Given the description of an element on the screen output the (x, y) to click on. 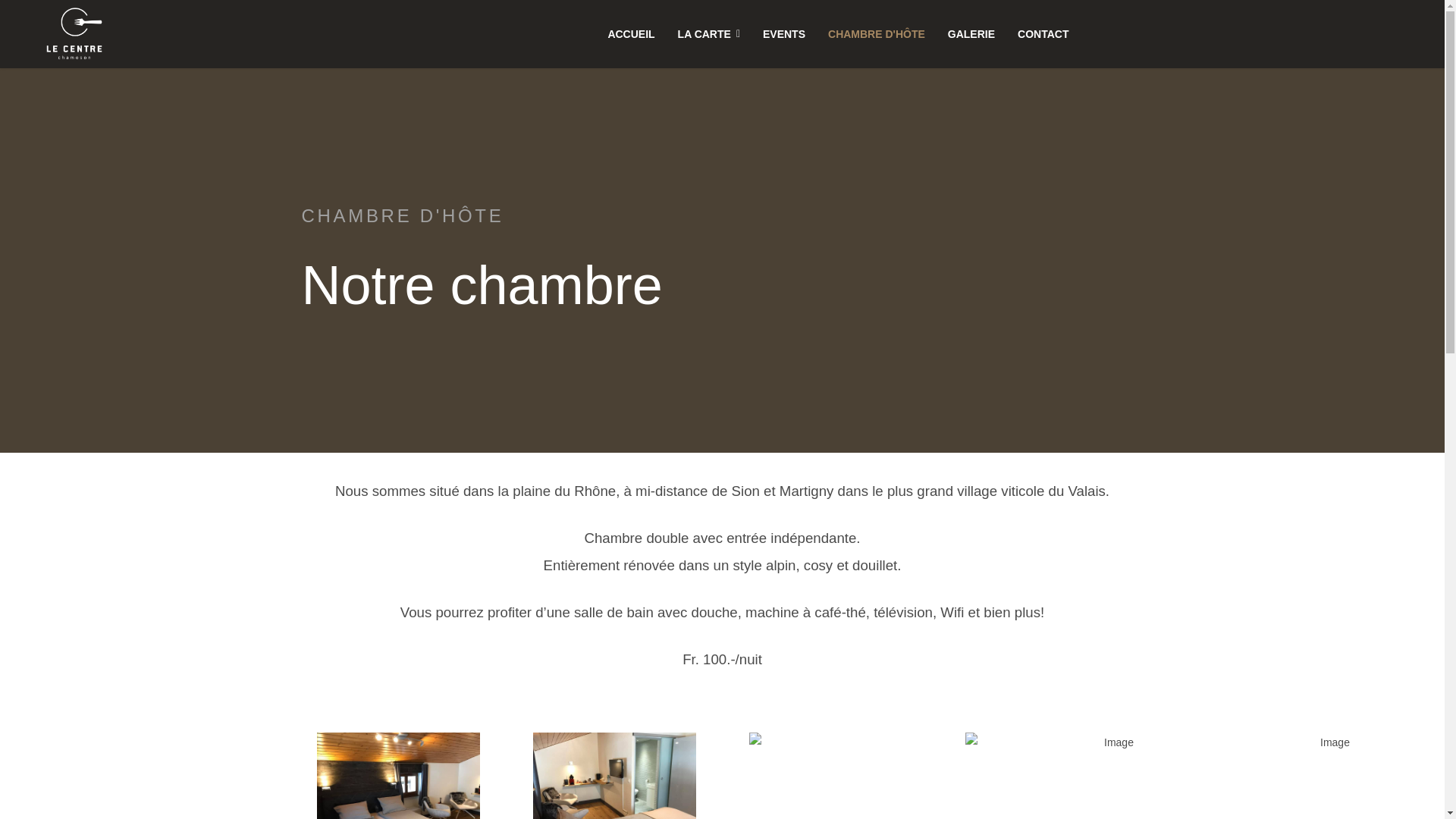
ACCUEIL Element type: text (630, 34)
GALERIE Element type: text (971, 34)
CONTACT Element type: text (1042, 34)
EVENTS Element type: text (783, 34)
LA CARTE Element type: text (708, 34)
